Given the description of an element on the screen output the (x, y) to click on. 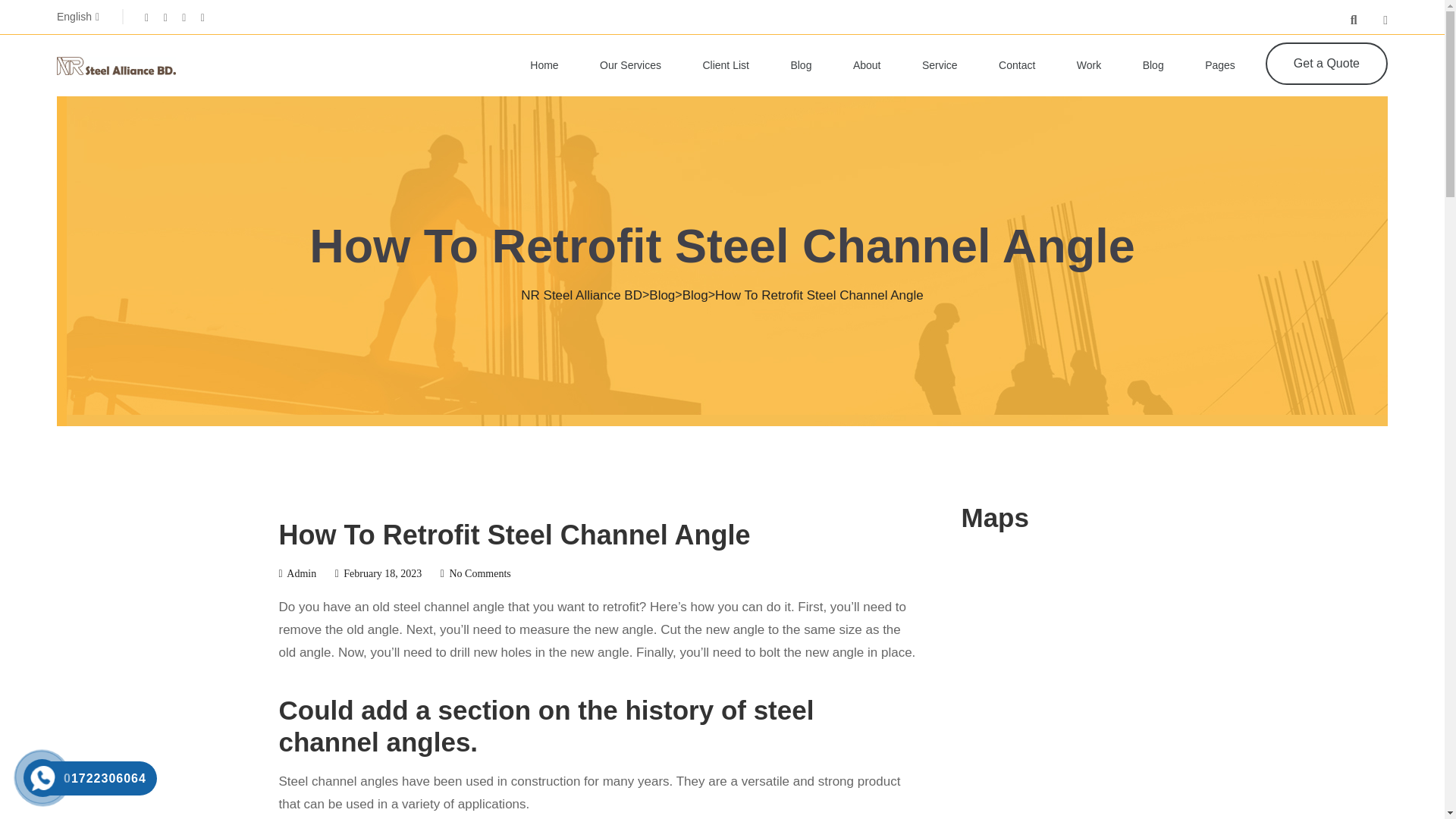
Our Services (630, 65)
NR Steel Alliance BD (581, 295)
English (77, 17)
Go to NR Steel Alliance BD. (581, 295)
Our Services (630, 65)
Blog (662, 295)
Get a Quote (1326, 63)
Blog (694, 295)
